Given the description of an element on the screen output the (x, y) to click on. 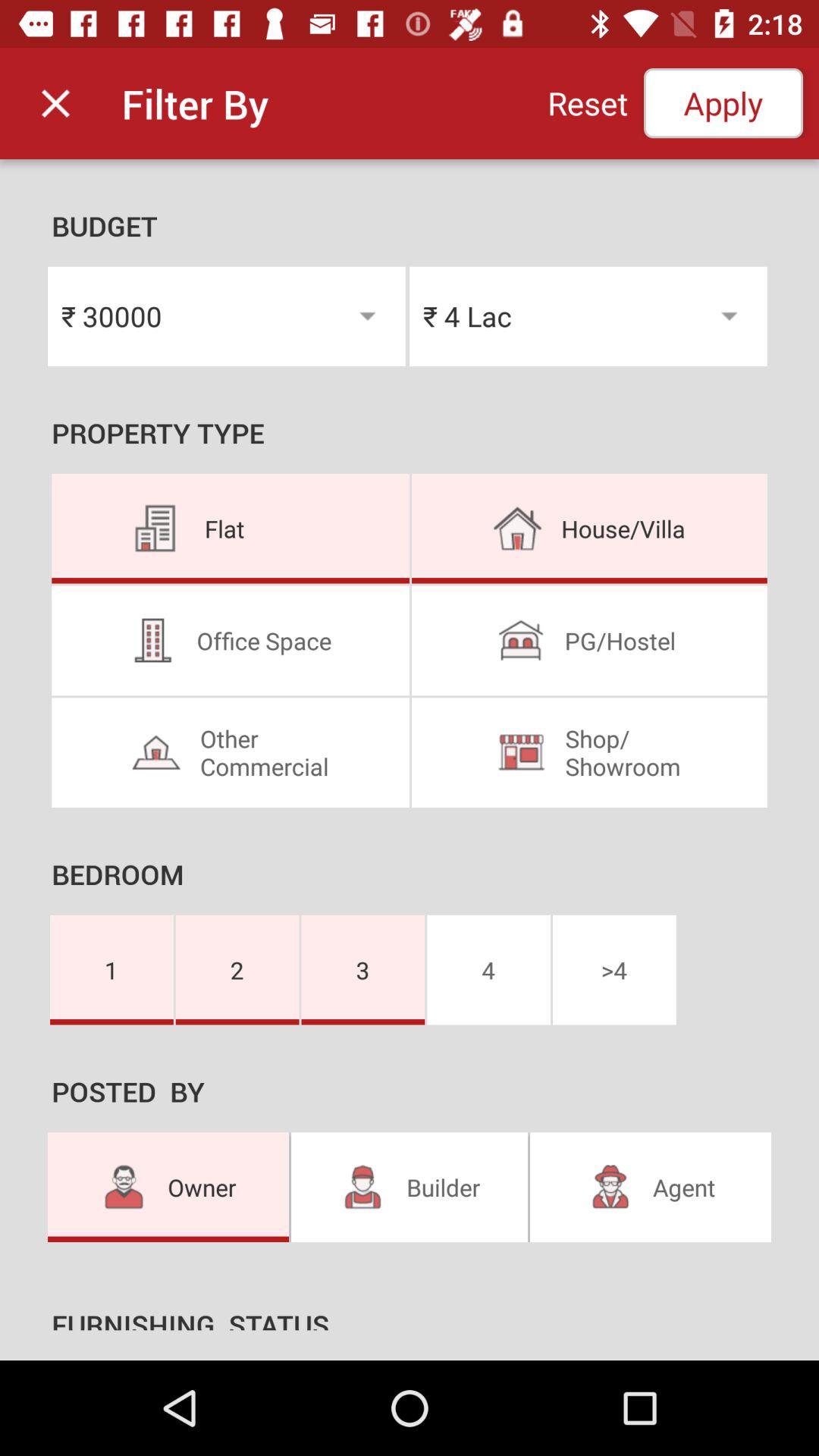
flip until the posted  by item (409, 1096)
